Given the description of an element on the screen output the (x, y) to click on. 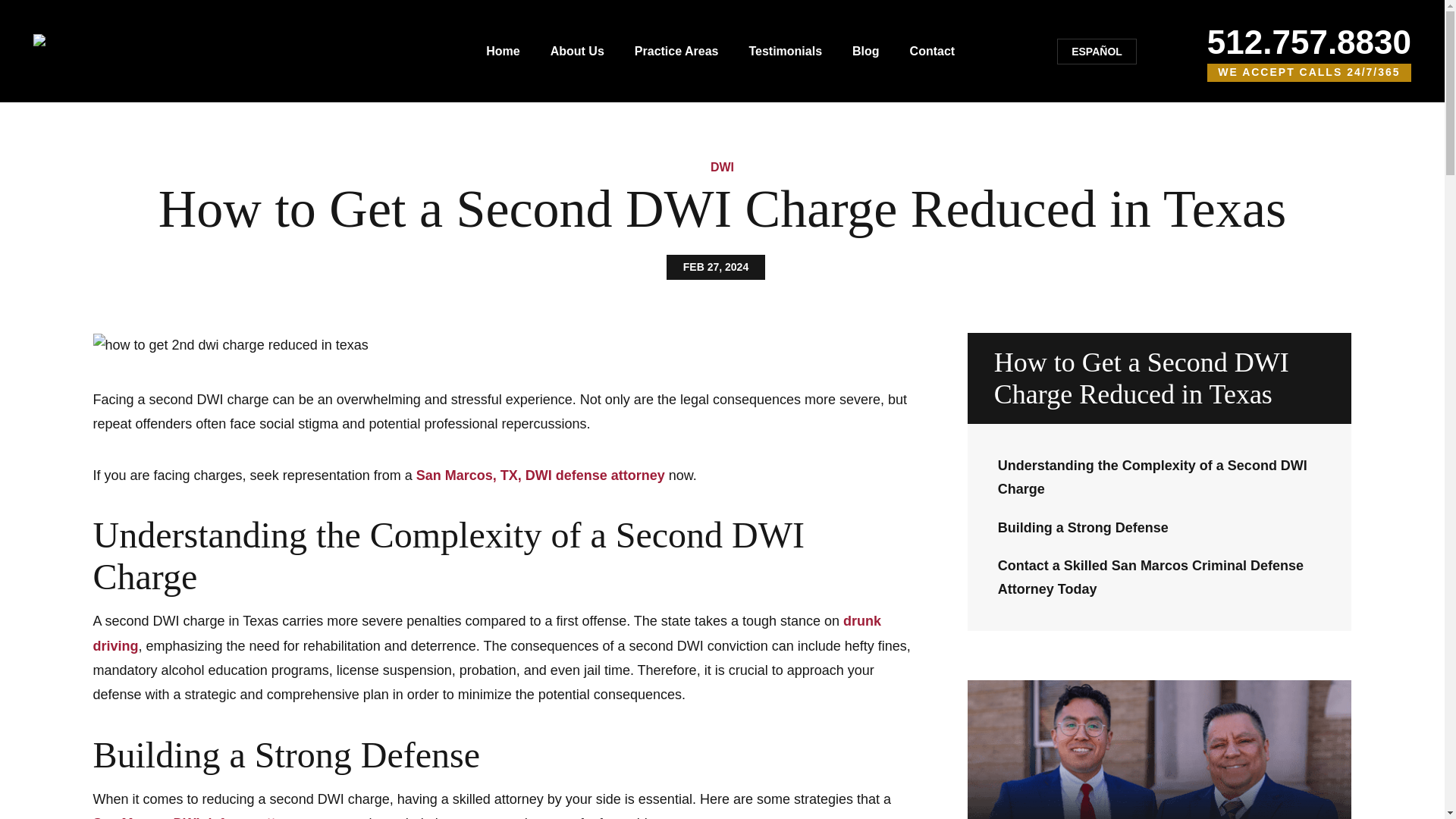
Contact (932, 50)
How to Get a Second DWI Charge Reduced in Texas (1160, 378)
Contact a Skilled San Marcos Criminal Defense Attorney Today (1150, 577)
512.757.8830 (1308, 41)
drunk driving (486, 632)
Understanding the Complexity of a Second DWI Charge (1152, 476)
About Us (577, 50)
San Marcos DWI defense attorney (203, 817)
Home (502, 50)
San Marcos, TX, DWI defense attorney (540, 475)
Practice Areas (676, 50)
Blog (865, 50)
Building a Strong Defense (1083, 527)
Testimonials (785, 50)
